Given the description of an element on the screen output the (x, y) to click on. 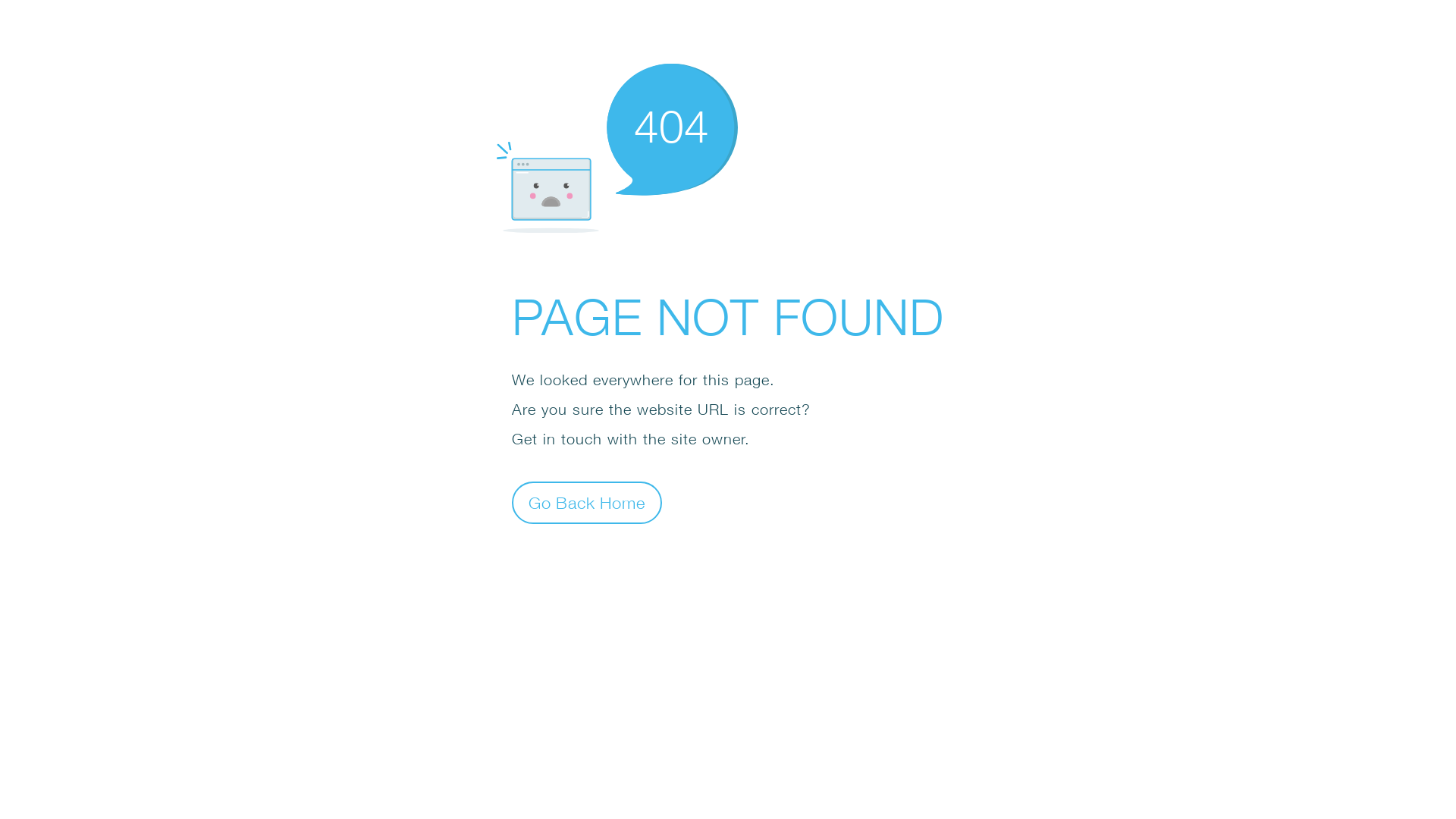
Go Back Home Element type: text (586, 502)
